Given the description of an element on the screen output the (x, y) to click on. 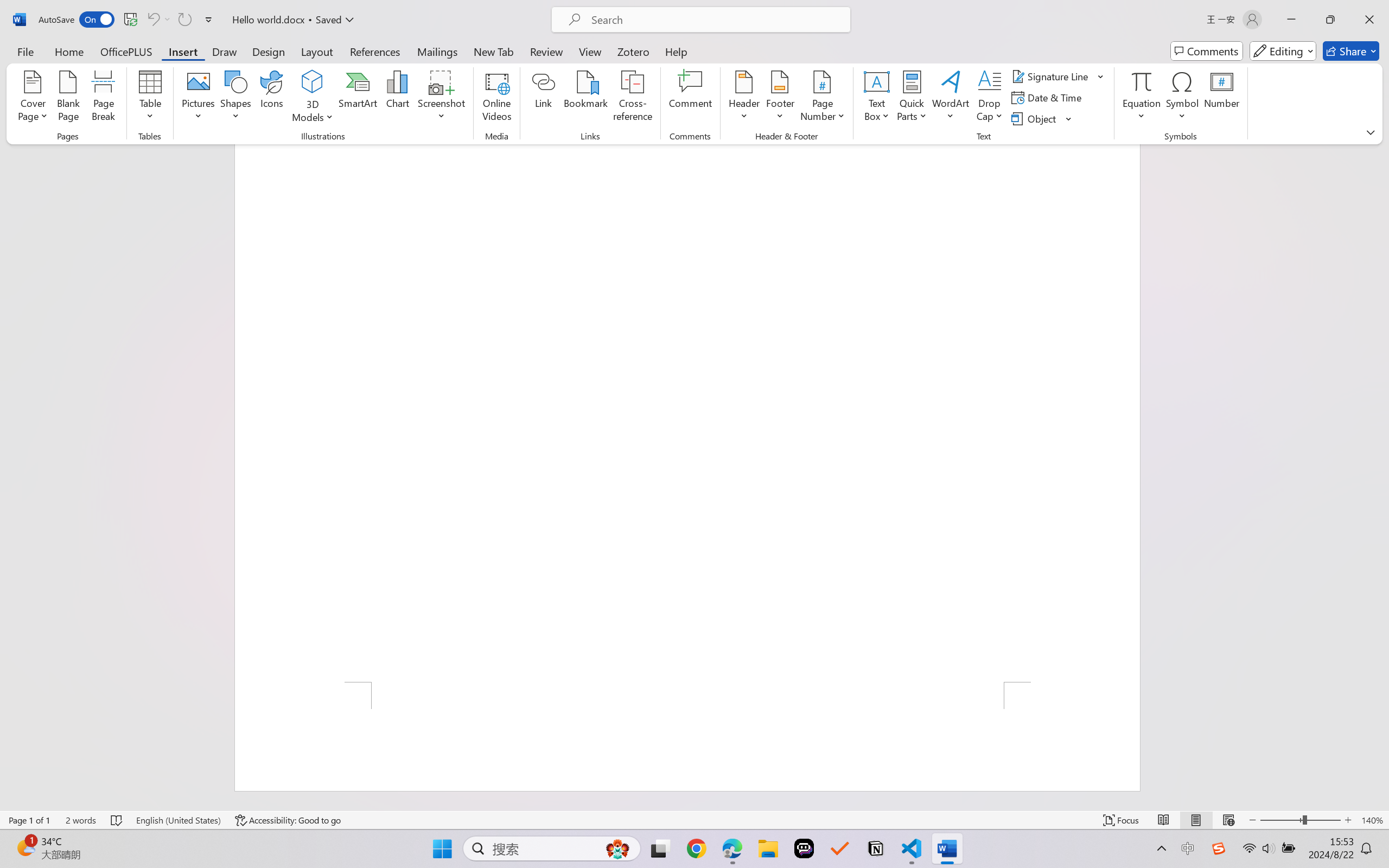
View (589, 51)
Class: MsoCommandBar (694, 819)
Spelling and Grammar Check No Errors (117, 819)
AutoSave (76, 19)
Quick Access Toolbar (127, 19)
More Options (167, 19)
Focus  (1121, 819)
Web Layout (1228, 819)
Language English (United States) (178, 819)
Draw (224, 51)
Insert (182, 51)
References (375, 51)
